Given the description of an element on the screen output the (x, y) to click on. 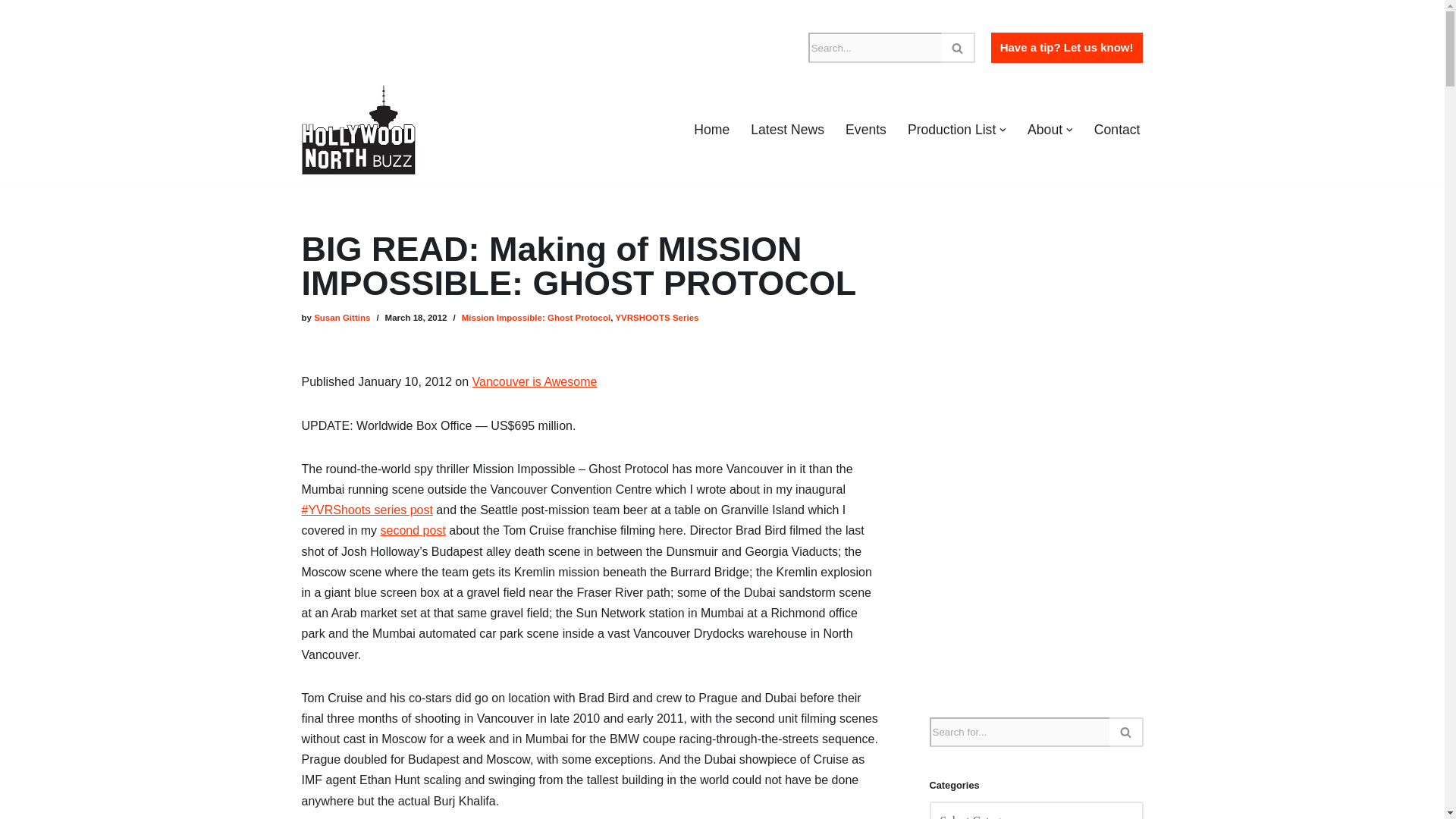
Latest News (787, 128)
second post (412, 530)
Skip to content (11, 31)
Events (865, 128)
Susan Gittins (341, 317)
Vancouver is Awesome (533, 381)
About (1044, 128)
Vancouver is Awesome (533, 381)
YVRSHOOTS Series (656, 317)
Have a tip? Let us know! (1066, 47)
